Given the description of an element on the screen output the (x, y) to click on. 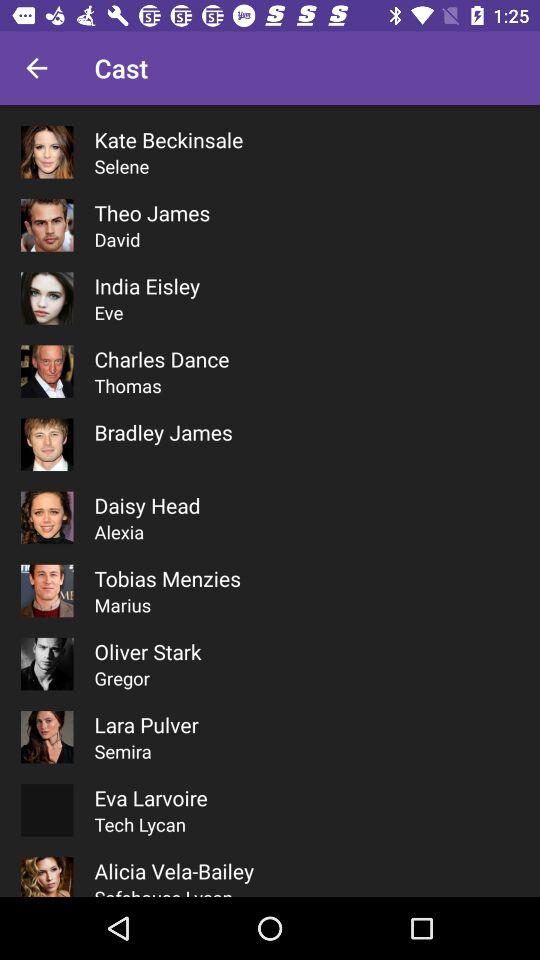
jump until gregor item (122, 678)
